Given the description of an element on the screen output the (x, y) to click on. 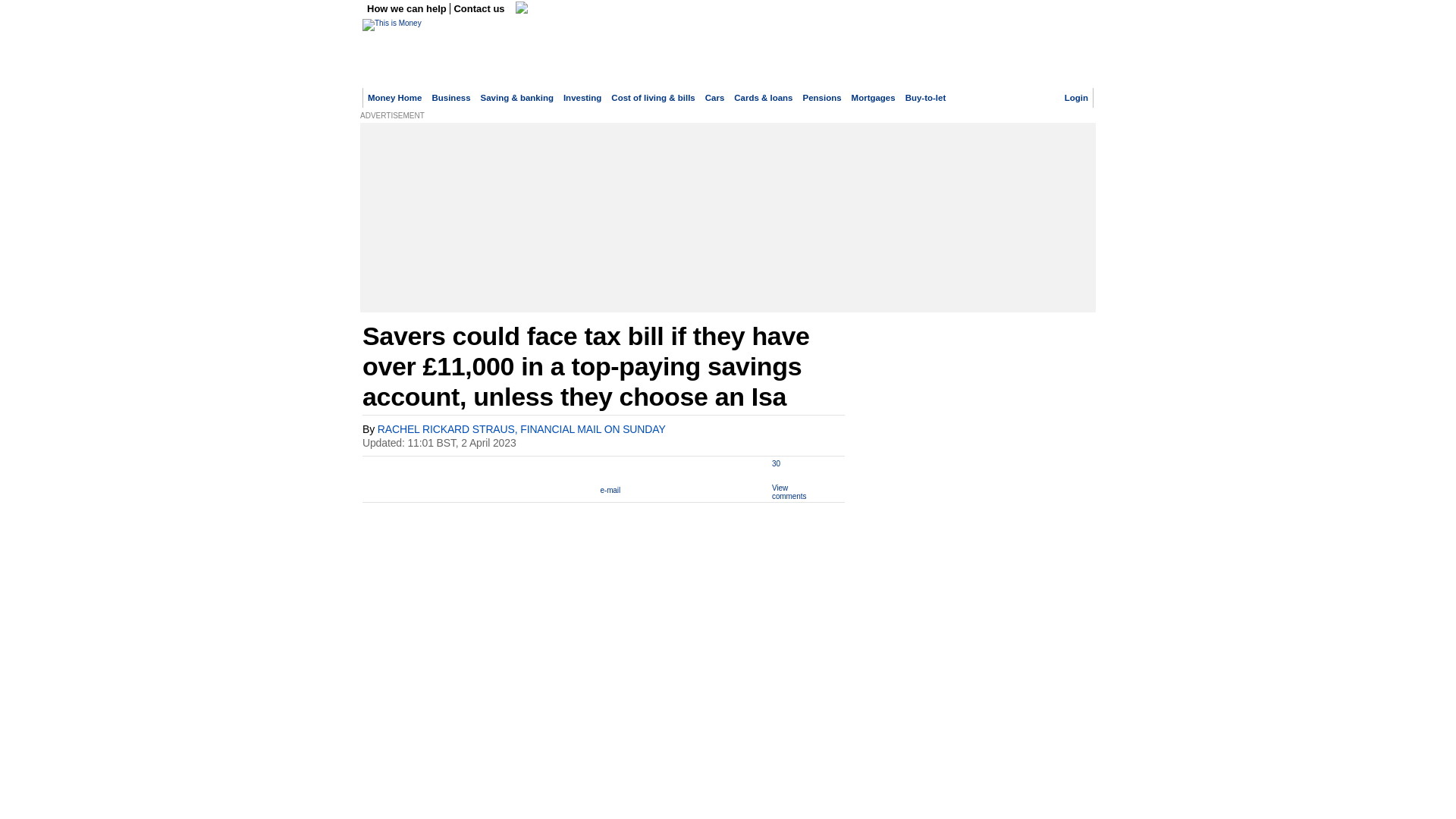
Buy-to-let (925, 97)
Pensions (822, 97)
Mortgages (873, 97)
Contact us (479, 8)
Investing (582, 97)
Money Home (395, 97)
How we can help (407, 8)
Cars (714, 97)
Login (1075, 97)
Business (450, 97)
